Given the description of an element on the screen output the (x, y) to click on. 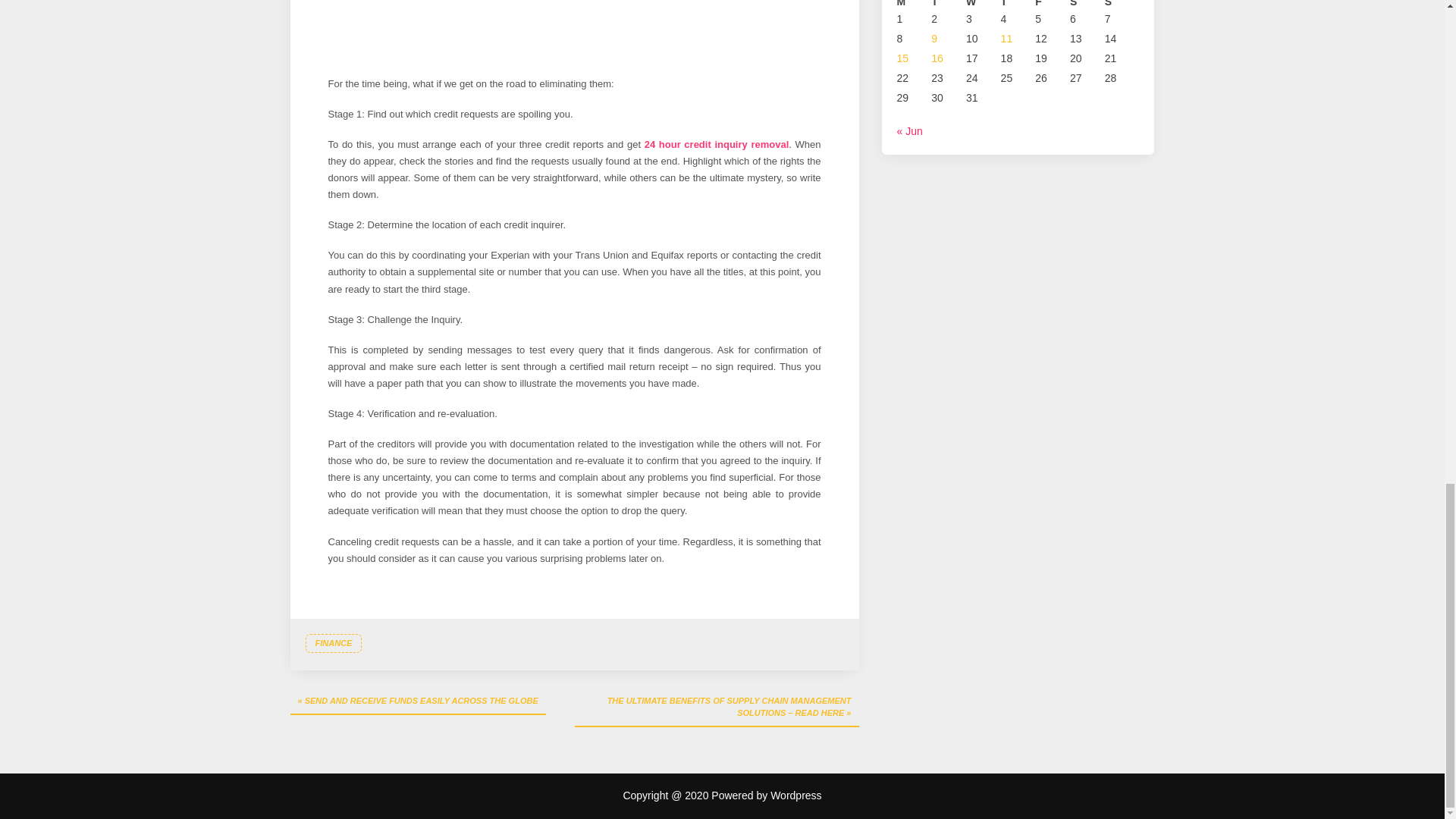
Friday (1052, 4)
Monday (913, 4)
15 (902, 58)
16 (937, 58)
Saturday (1087, 4)
Sunday (1122, 4)
Tuesday (948, 4)
Thursday (1018, 4)
FINANCE (332, 643)
24 hour credit inquiry removal (717, 143)
SEND AND RECEIVE FUNDS EASILY ACROSS THE GLOBE (416, 701)
11 (1007, 38)
Wednesday (983, 4)
